Given the description of an element on the screen output the (x, y) to click on. 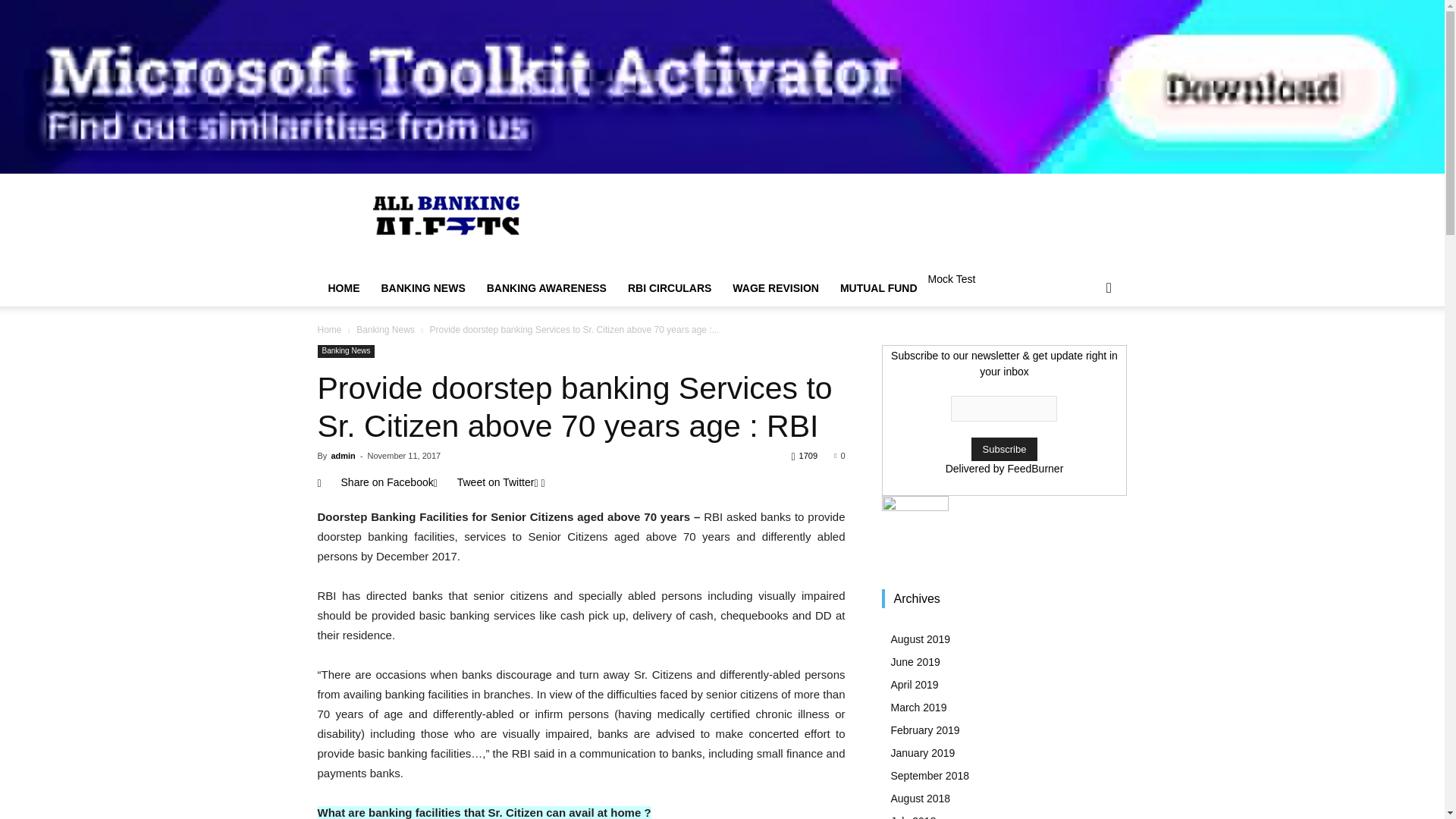
Subscribe (1004, 449)
Banking News (345, 350)
RBI CIRCULARS (669, 288)
Search (1085, 348)
BANKING NEWS (422, 288)
Home (328, 329)
HOME (343, 288)
MUTUAL FUND (878, 288)
Get All Banking Alerts and News Updates (446, 228)
View all posts in Banking News (385, 329)
